Given the description of an element on the screen output the (x, y) to click on. 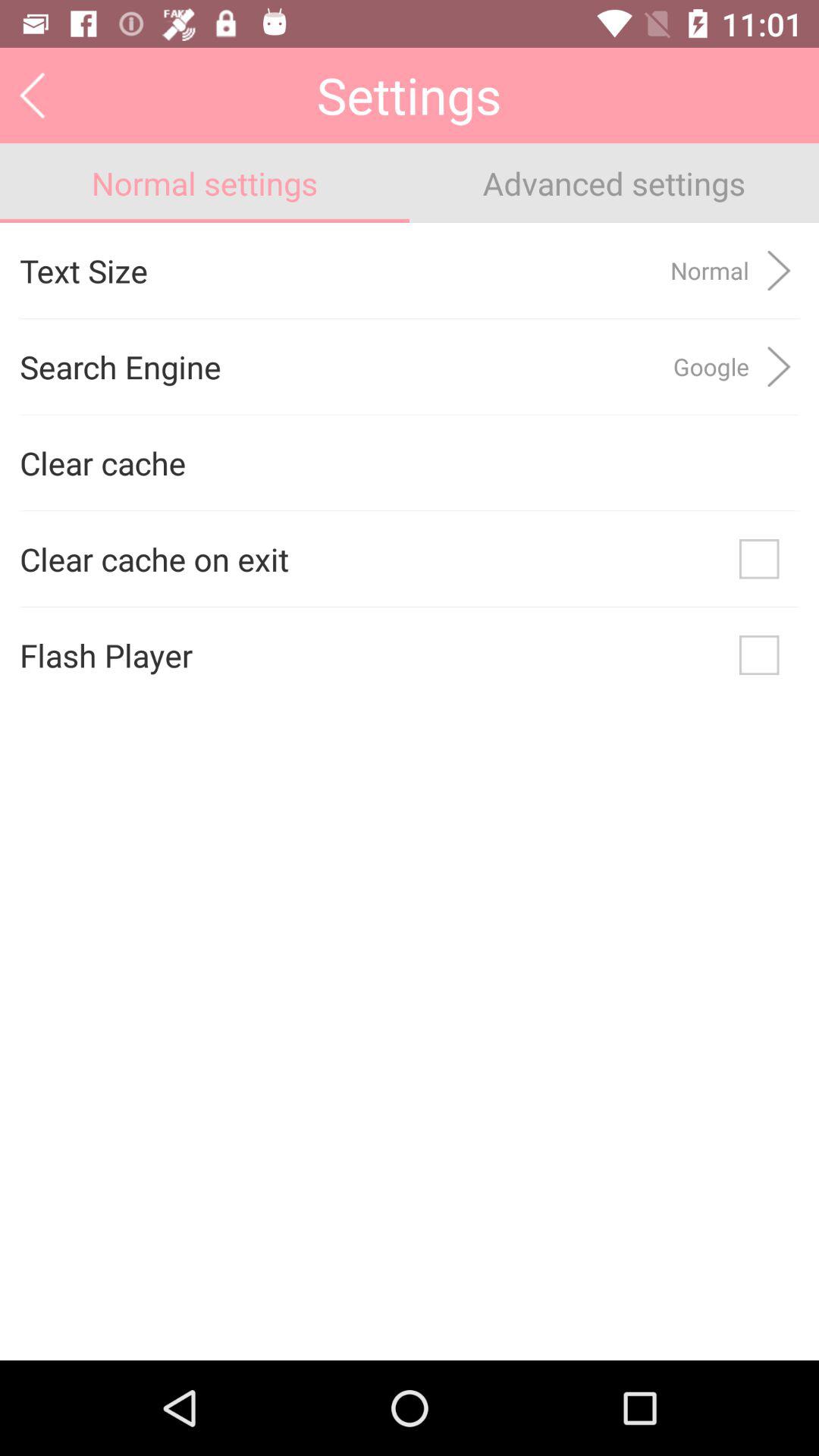
go back (31, 95)
